Given the description of an element on the screen output the (x, y) to click on. 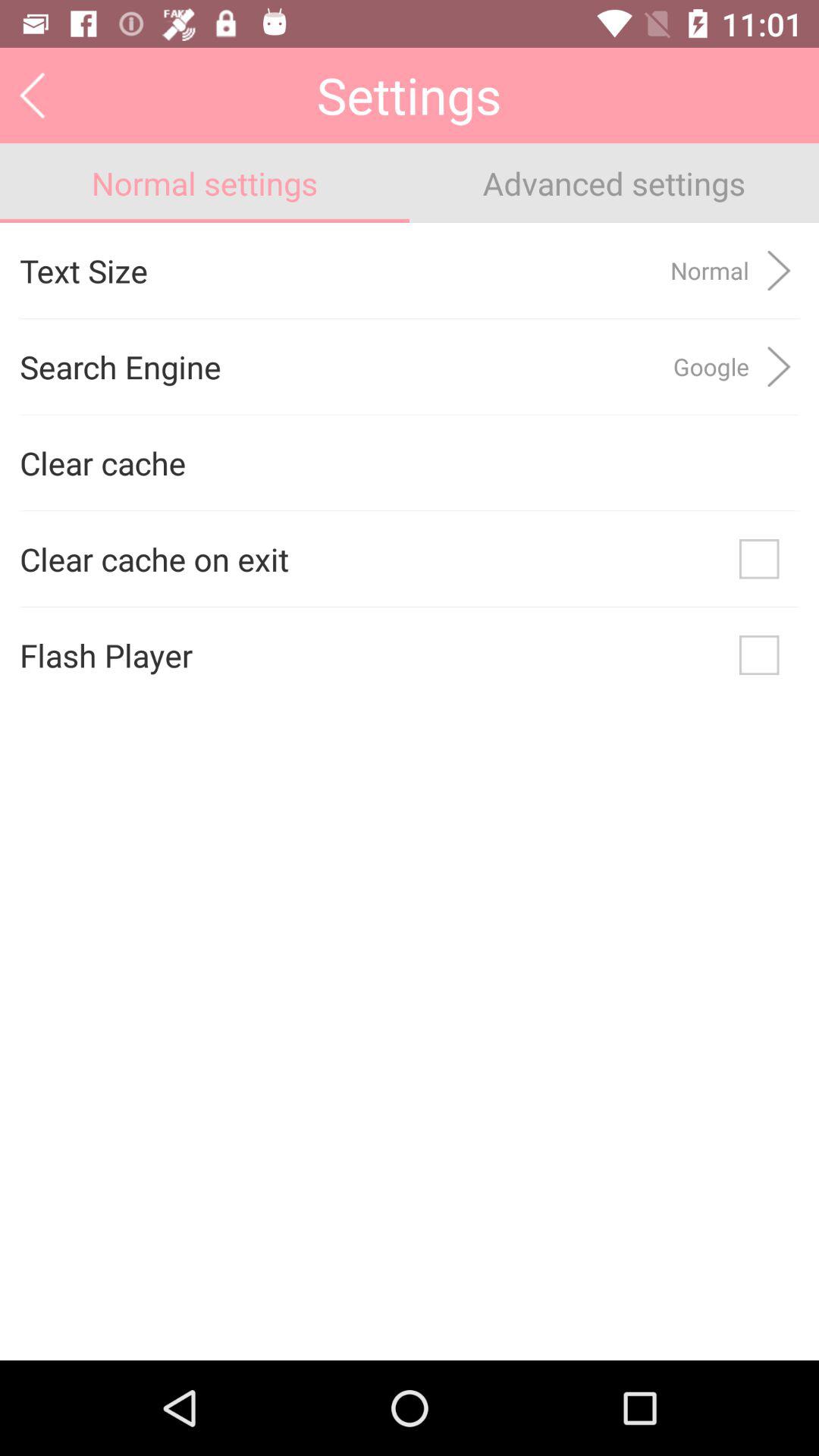
go back (31, 95)
